Given the description of an element on the screen output the (x, y) to click on. 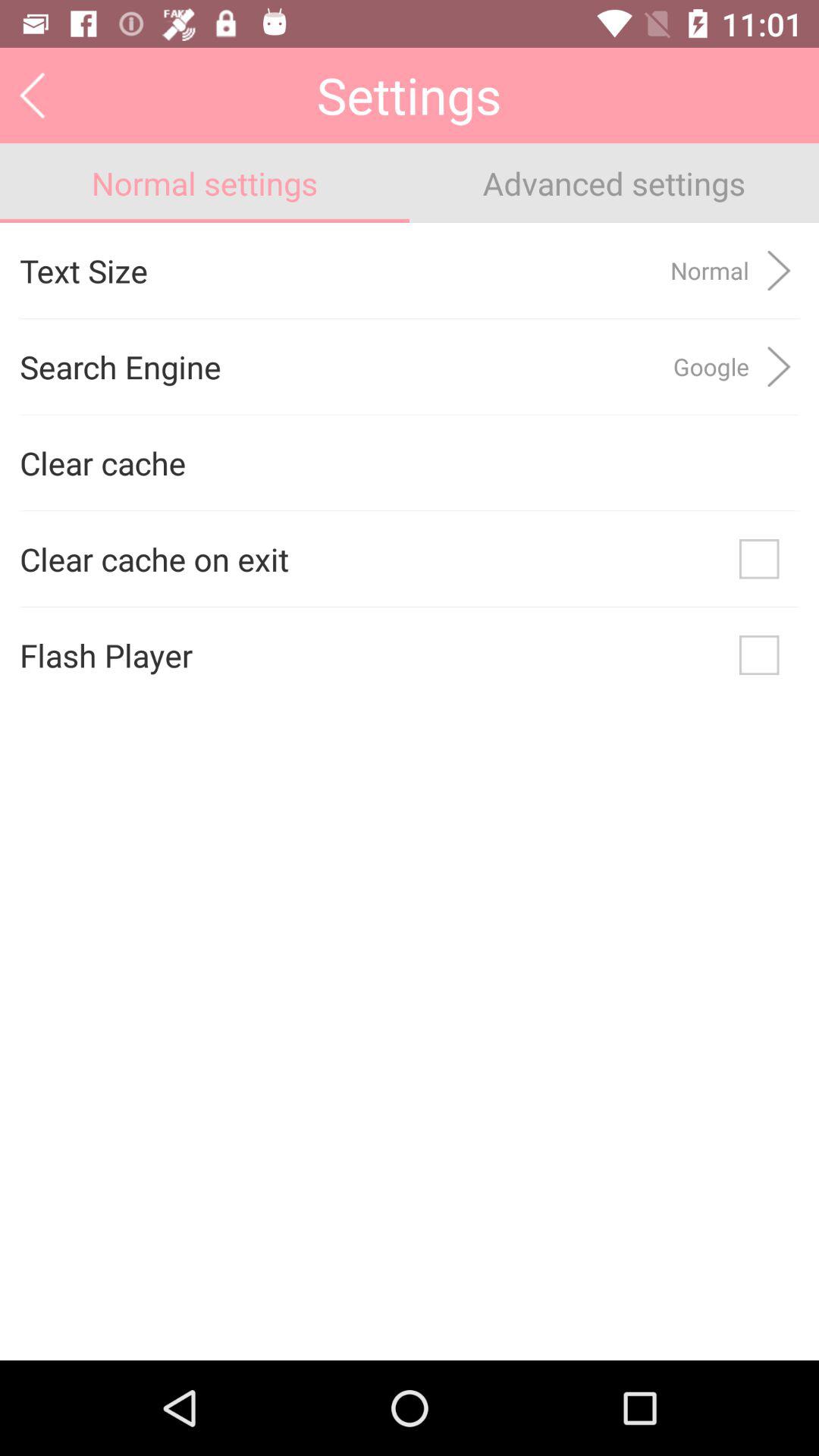
go back (31, 95)
